Given the description of an element on the screen output the (x, y) to click on. 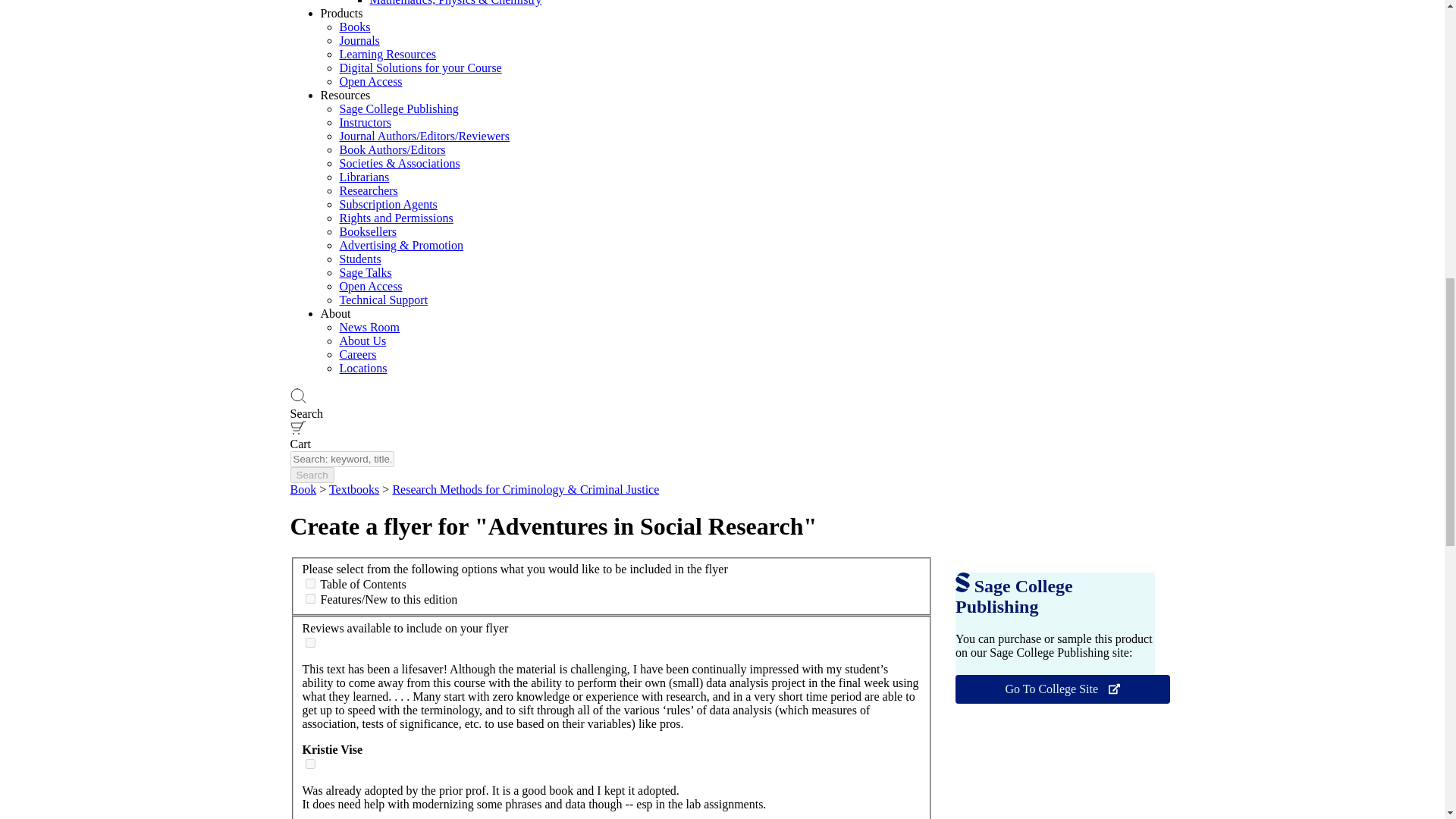
1 (309, 583)
1622142 (309, 764)
1610498 (309, 642)
Search (311, 474)
1 (309, 598)
cart Created with Sketch. (297, 427)
Search Created with Sketch. (297, 395)
